Given the description of an element on the screen output the (x, y) to click on. 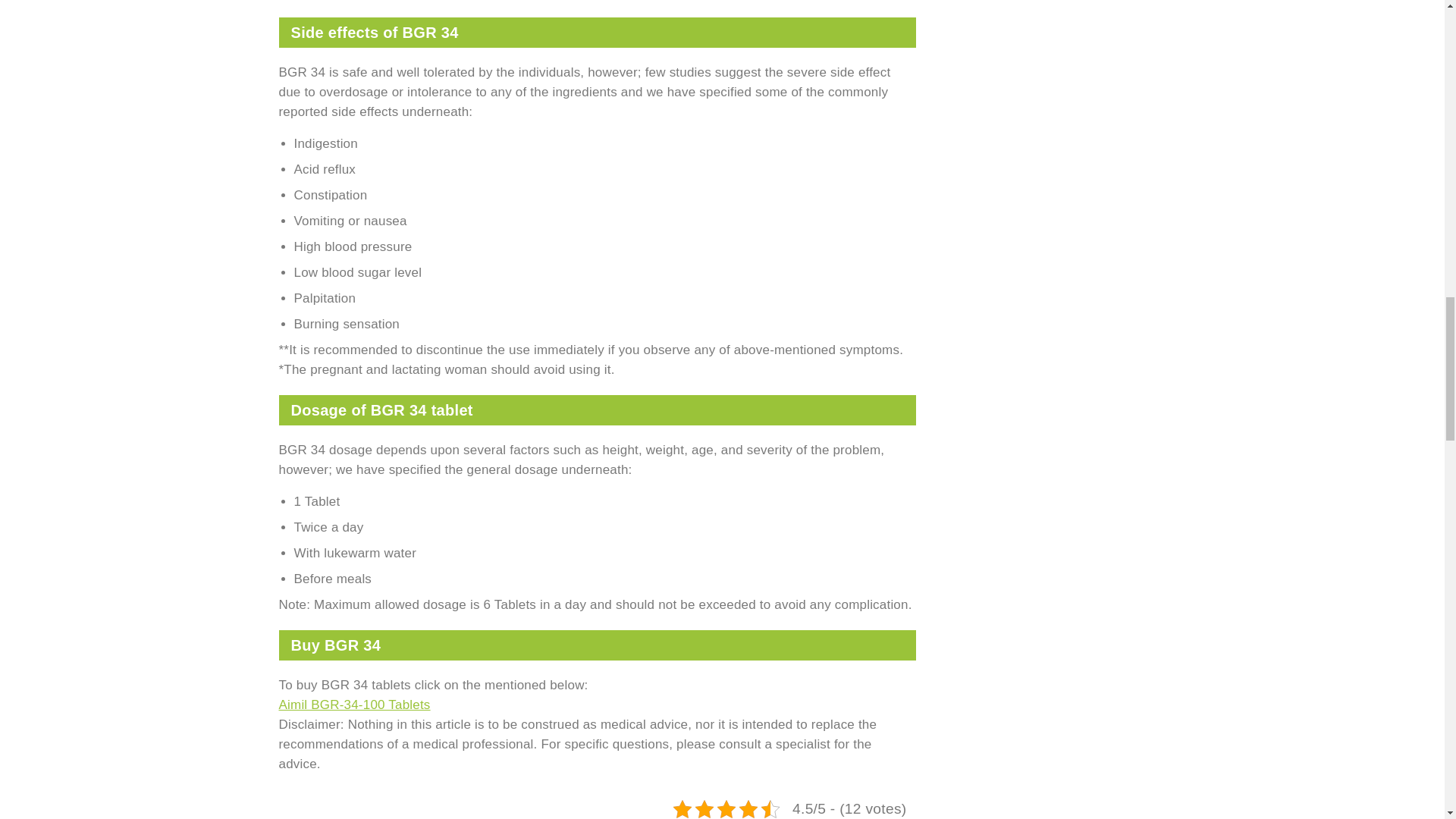
Aimil BGR-34-100 Tablets (354, 704)
